Given the description of an element on the screen output the (x, y) to click on. 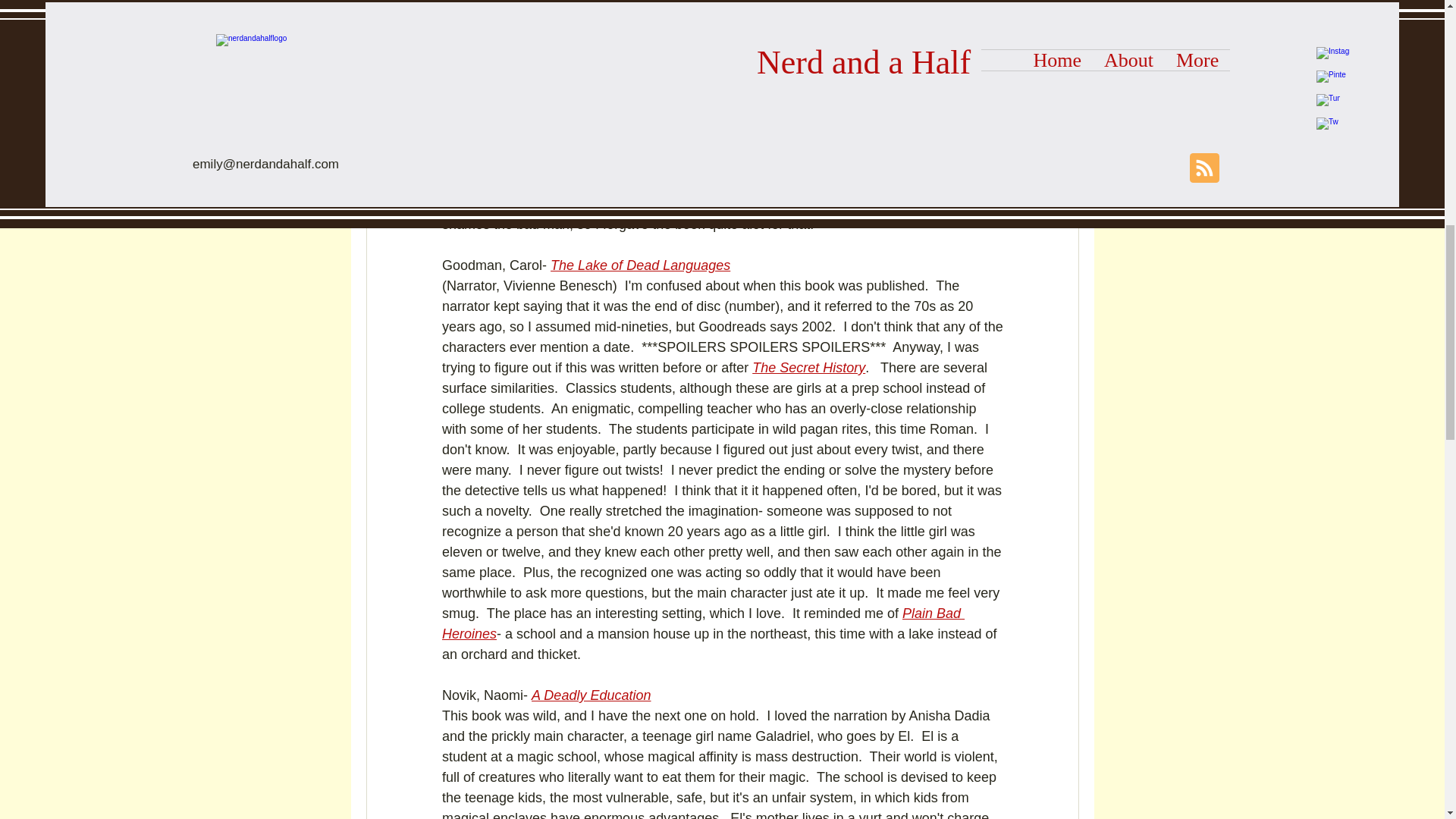
A Deadly Education (590, 694)
The Lake of Dead Languages (640, 264)
The Secret History (808, 367)
Plain Bad Heroines (702, 623)
